Given the description of an element on the screen output the (x, y) to click on. 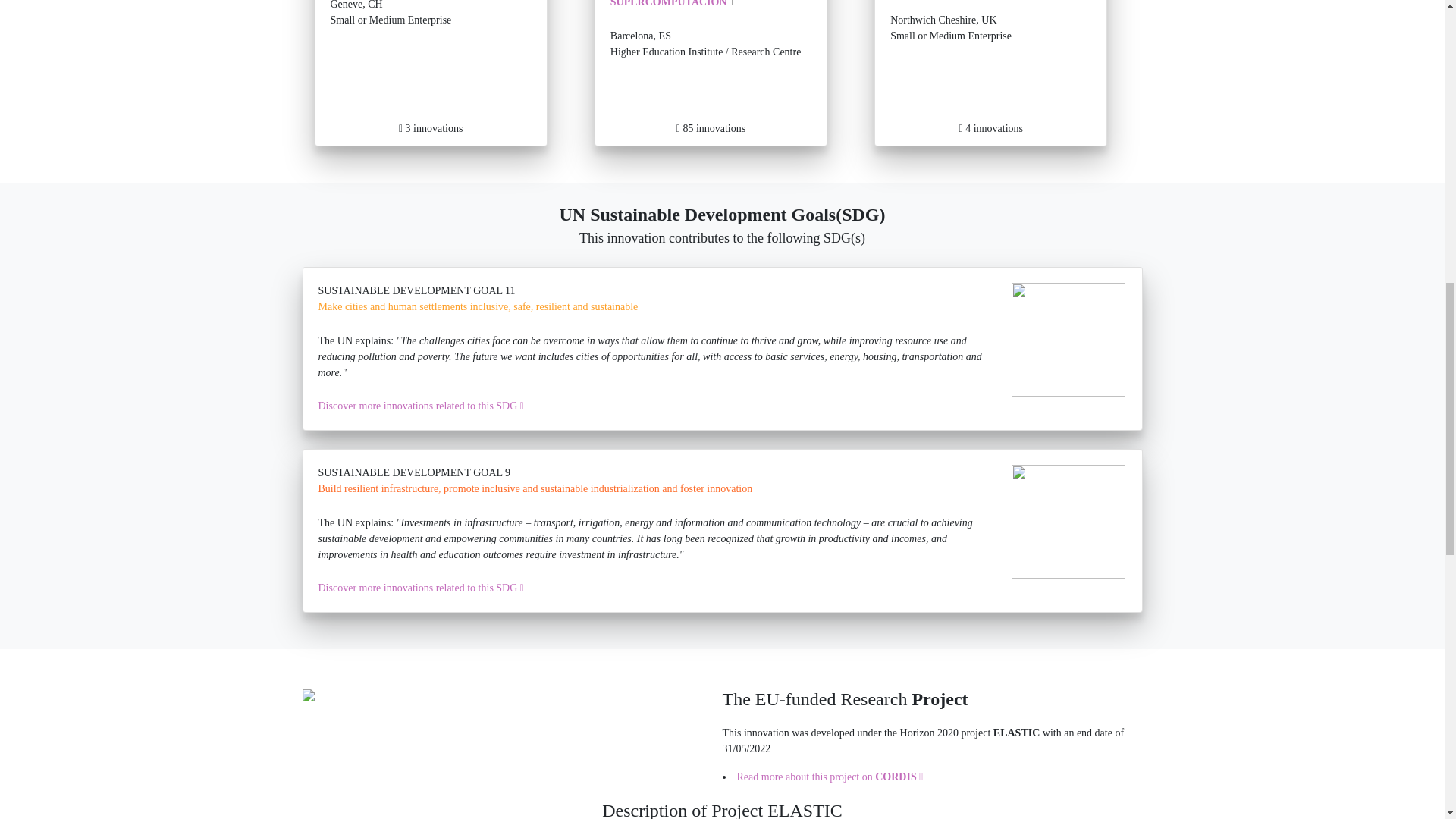
Discover more innovations related to this SDG (430, 73)
CORDIS (421, 587)
Discover more innovations related to this SDG (896, 776)
